Given the description of an element on the screen output the (x, y) to click on. 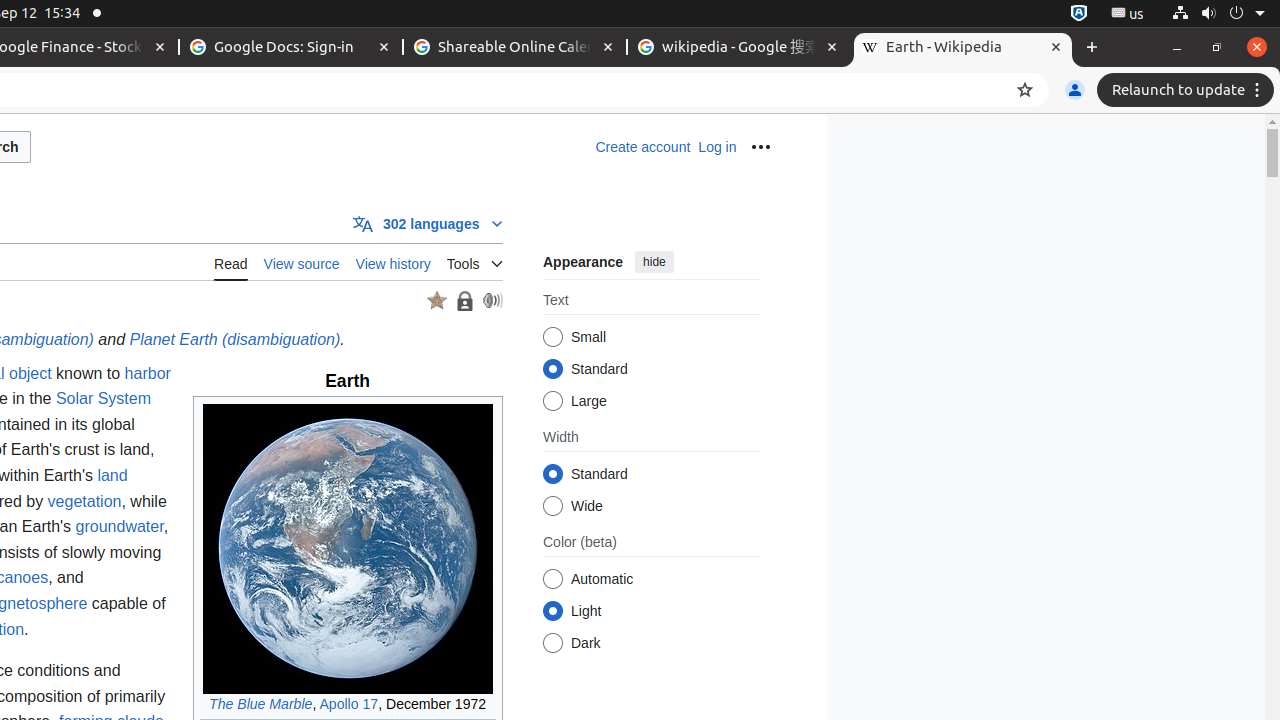
Shareable Online Calendar and Scheduling - Google Calendar - Memory usage - 88.5 MB Element type: page-tab (515, 47)
Light Element type: radio-button (552, 611)
wikipedia - Google 搜索 - Memory usage - 85.9 MB Element type: page-tab (739, 47)
Large Element type: radio-button (552, 401)
Apollo 17 Element type: link (349, 703)
